Given the description of an element on the screen output the (x, y) to click on. 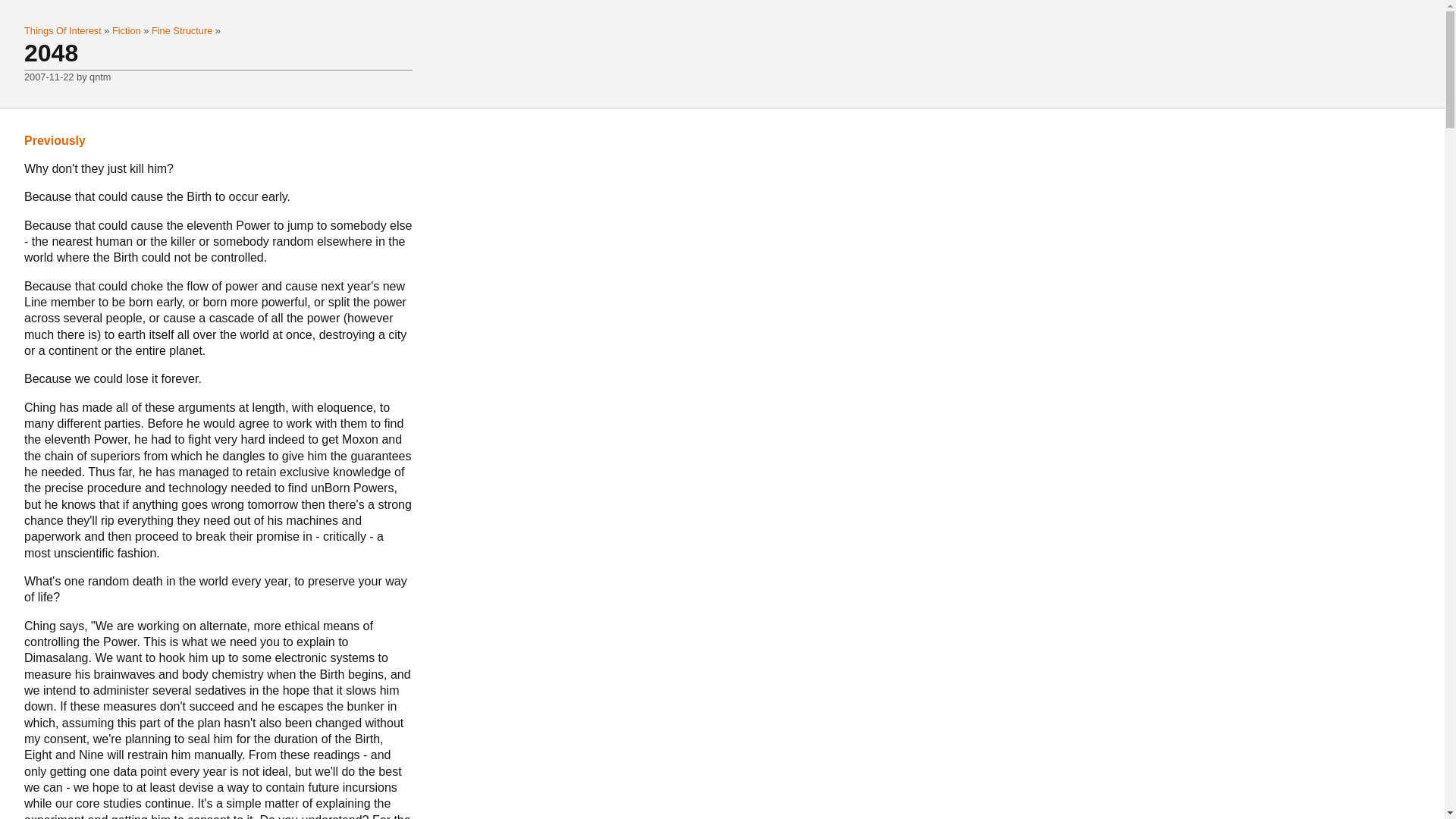
Previously (54, 140)
Fiction (127, 30)
Fine Structure (183, 30)
Things Of Interest (63, 30)
